Given the description of an element on the screen output the (x, y) to click on. 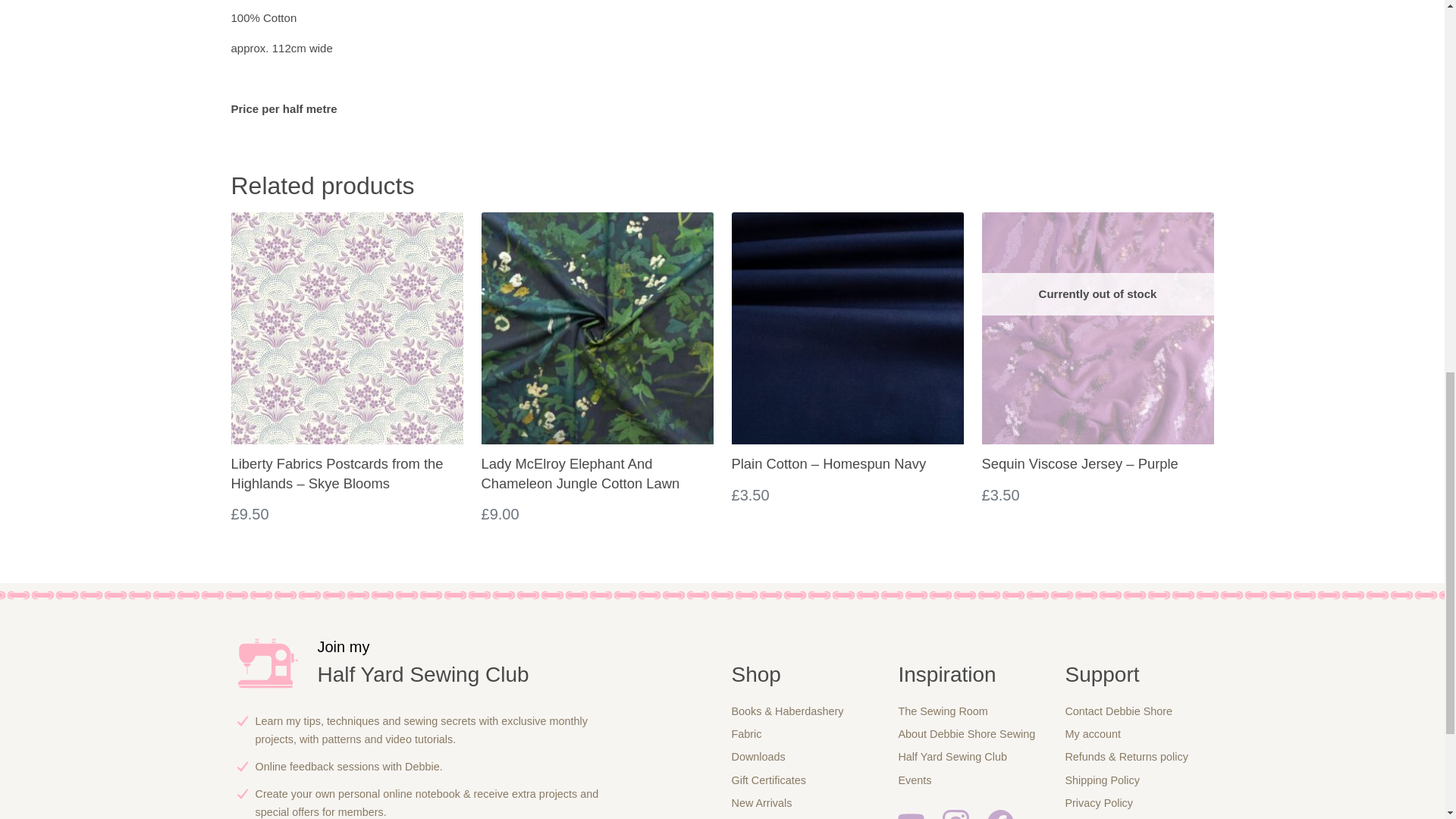
Facebook (1000, 814)
YouTube (911, 814)
Instagram (955, 814)
